Given the description of an element on the screen output the (x, y) to click on. 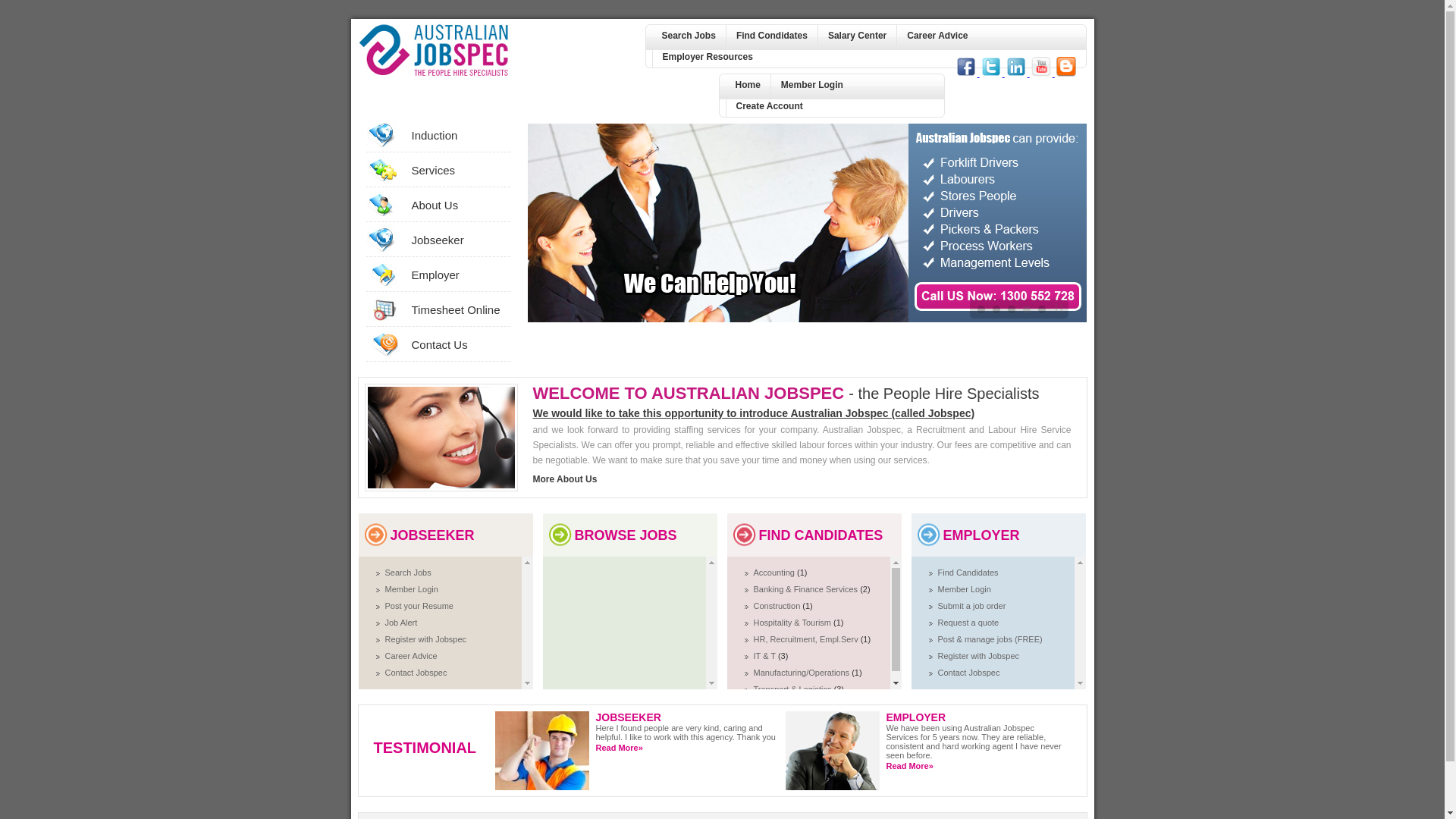
Find Candidates Element type: text (967, 572)
IT & T Element type: text (765, 655)
Career Advice Element type: text (411, 655)
Search Jobs Element type: text (408, 572)
More About Us Element type: text (564, 478)
HR, Recruitment, Empl.Serv Element type: text (806, 638)
Post your Resume Element type: text (419, 605)
Member Login Element type: text (811, 84)
Salary Center Element type: text (856, 35)
Search Jobs Element type: text (688, 35)
Banking & Finance Services Element type: text (806, 588)
About Us Element type: text (456, 204)
Employer Element type: text (456, 274)
Induction Element type: text (456, 134)
Contact Jobspec Element type: text (416, 672)
Jobseeker Element type: text (456, 239)
Transport & Logistics Element type: text (793, 688)
Contact Us Element type: text (456, 344)
Construction Element type: text (778, 605)
Career Advice Element type: text (936, 35)
Home Element type: text (746, 84)
Member Login Element type: text (411, 588)
Hospitality & Tourism Element type: text (793, 622)
Find Condidates Element type: text (771, 35)
Job Alert Element type: text (401, 622)
Create Account Element type: text (768, 105)
Services Element type: text (456, 169)
Accounting Element type: text (775, 572)
Member Login Element type: text (963, 588)
Employer Resources Element type: text (707, 56)
Request a quote Element type: text (967, 622)
Contact Jobspec Element type: text (968, 672)
Submit a job order Element type: text (971, 605)
Register with Jobspec Element type: text (426, 638)
Timesheet Online Element type: text (456, 309)
Manufacturing/Operations Element type: text (802, 672)
Post & manage jobs (FREE) Element type: text (989, 638)
Register with Jobspec Element type: text (978, 655)
